Given the description of an element on the screen output the (x, y) to click on. 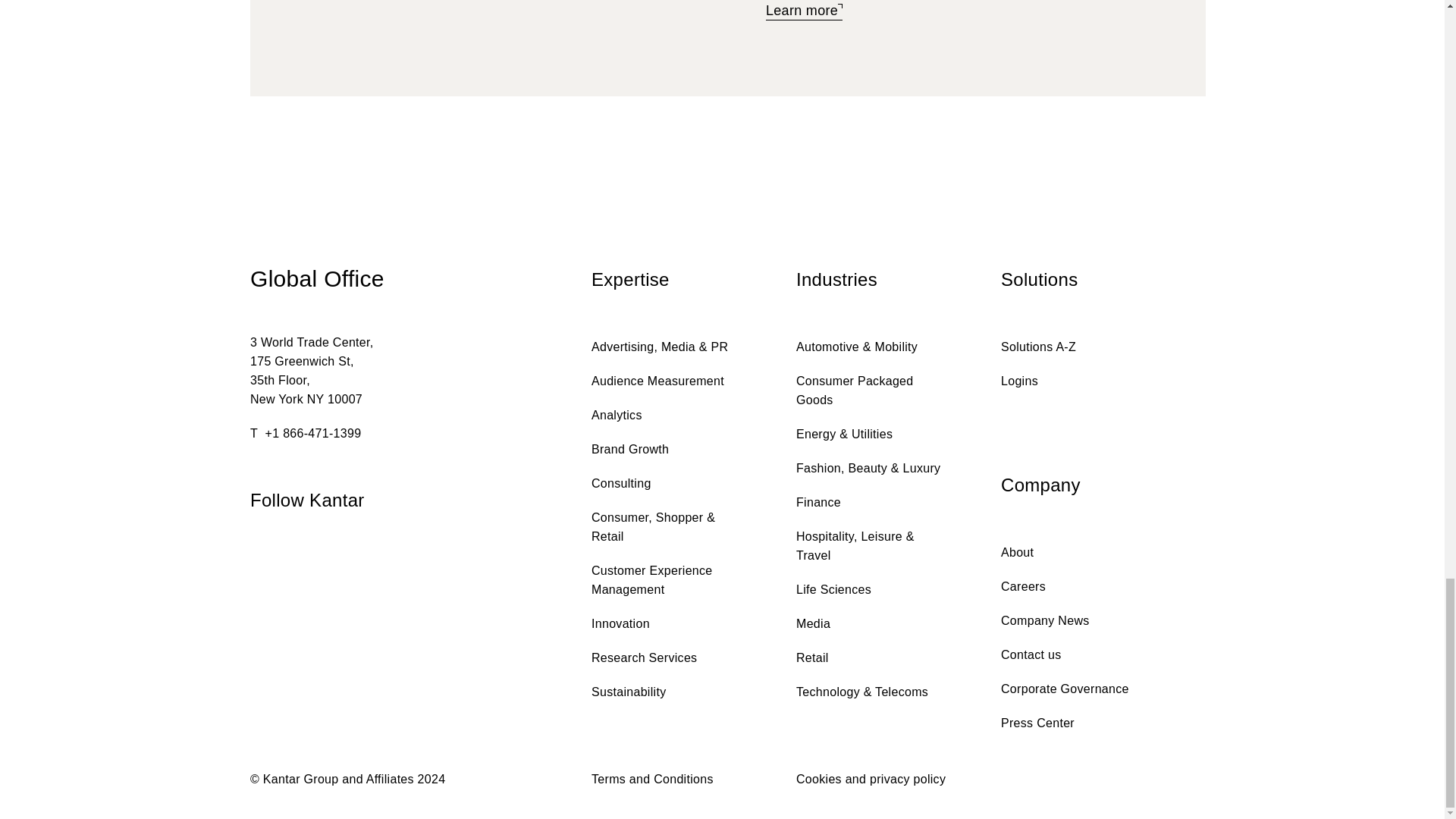
Retailer Channel Shopper Intelligence (804, 11)
